Given the description of an element on the screen output the (x, y) to click on. 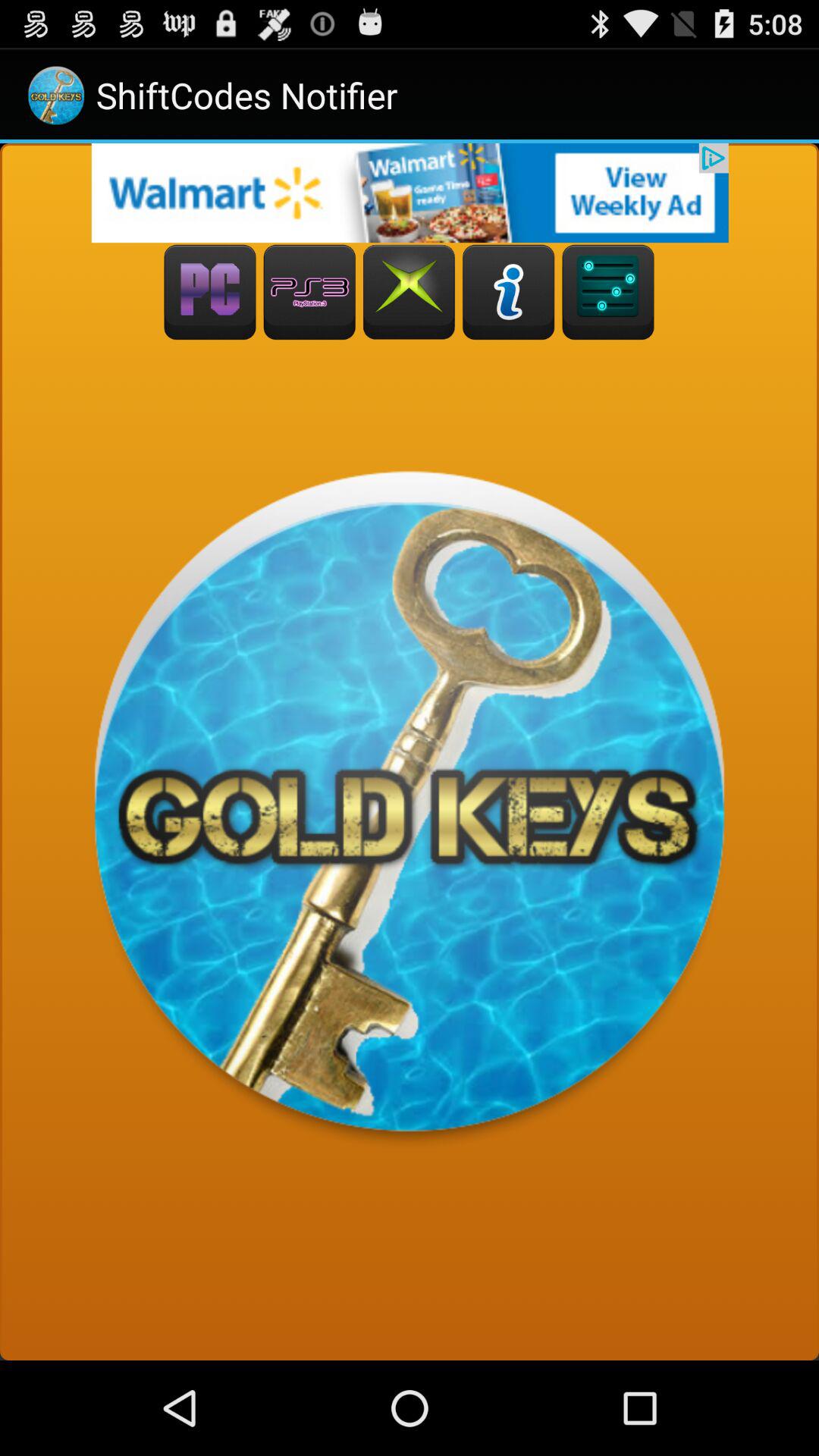
key button (608, 292)
